Given the description of an element on the screen output the (x, y) to click on. 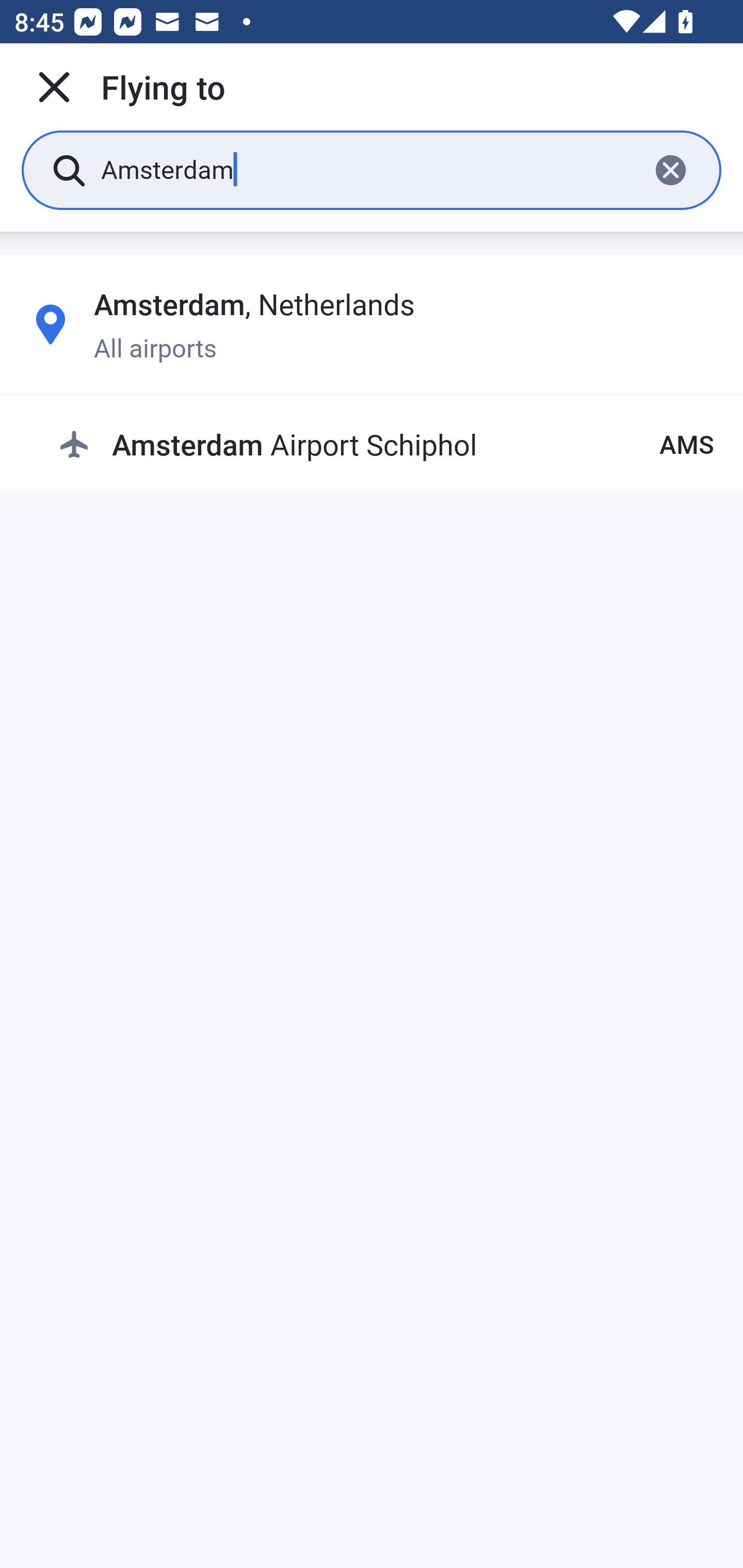
Amsterdam (367, 169)
Amsterdam, Netherlands All airports (371, 324)
Amsterdam Airport Schiphol AMS (385, 444)
